Given the description of an element on the screen output the (x, y) to click on. 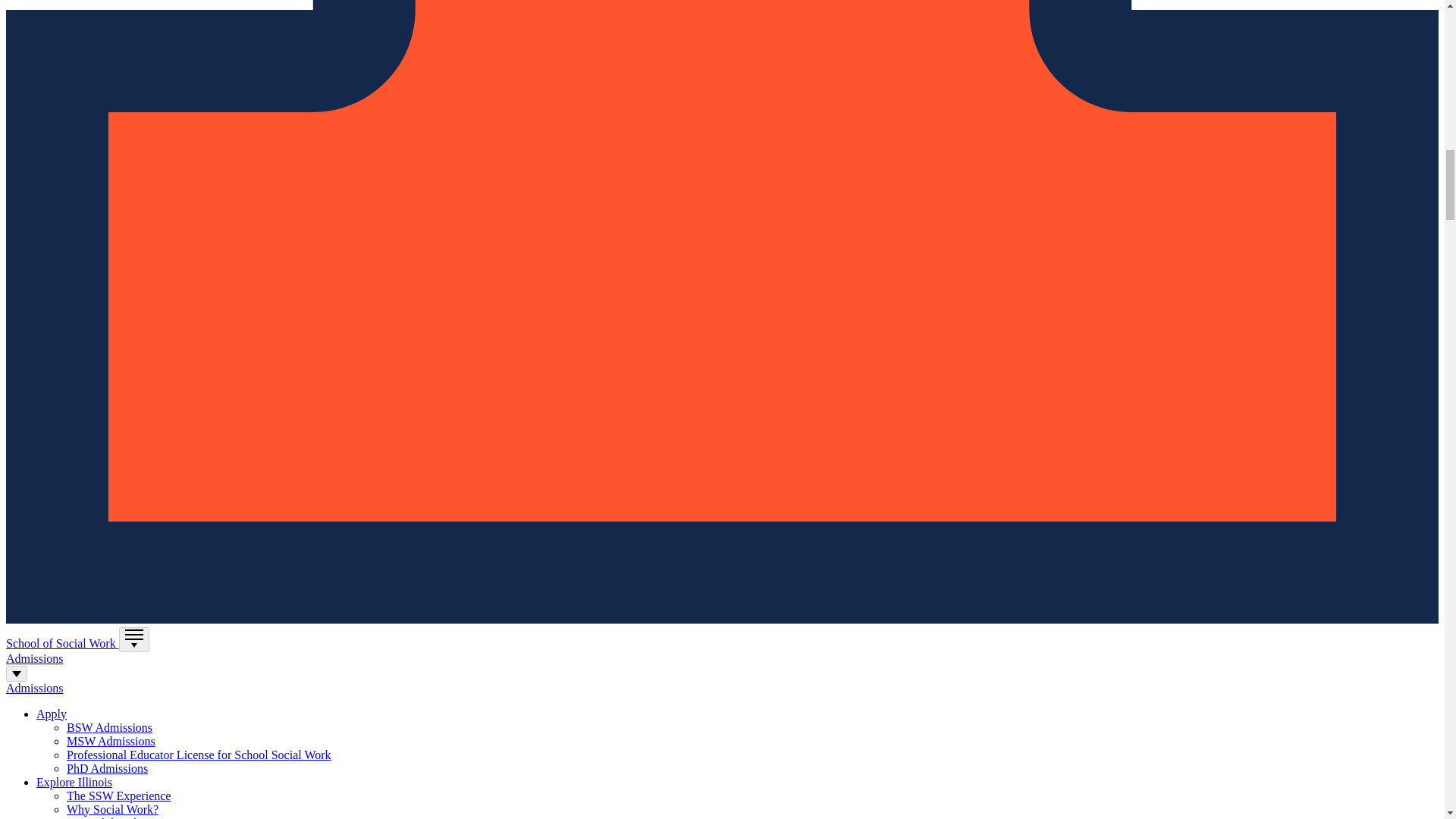
MSW Admissions (110, 740)
Admissions (34, 658)
BSW Admissions (109, 727)
Apply (51, 713)
Beyond the Classroom (121, 817)
Professional Educator License for School Social Work (198, 754)
PhD Admissions (107, 768)
Explore Illinois (74, 781)
Why Social Work? (112, 809)
The SSW Experience (118, 795)
Admissions (34, 687)
